Given the description of an element on the screen output the (x, y) to click on. 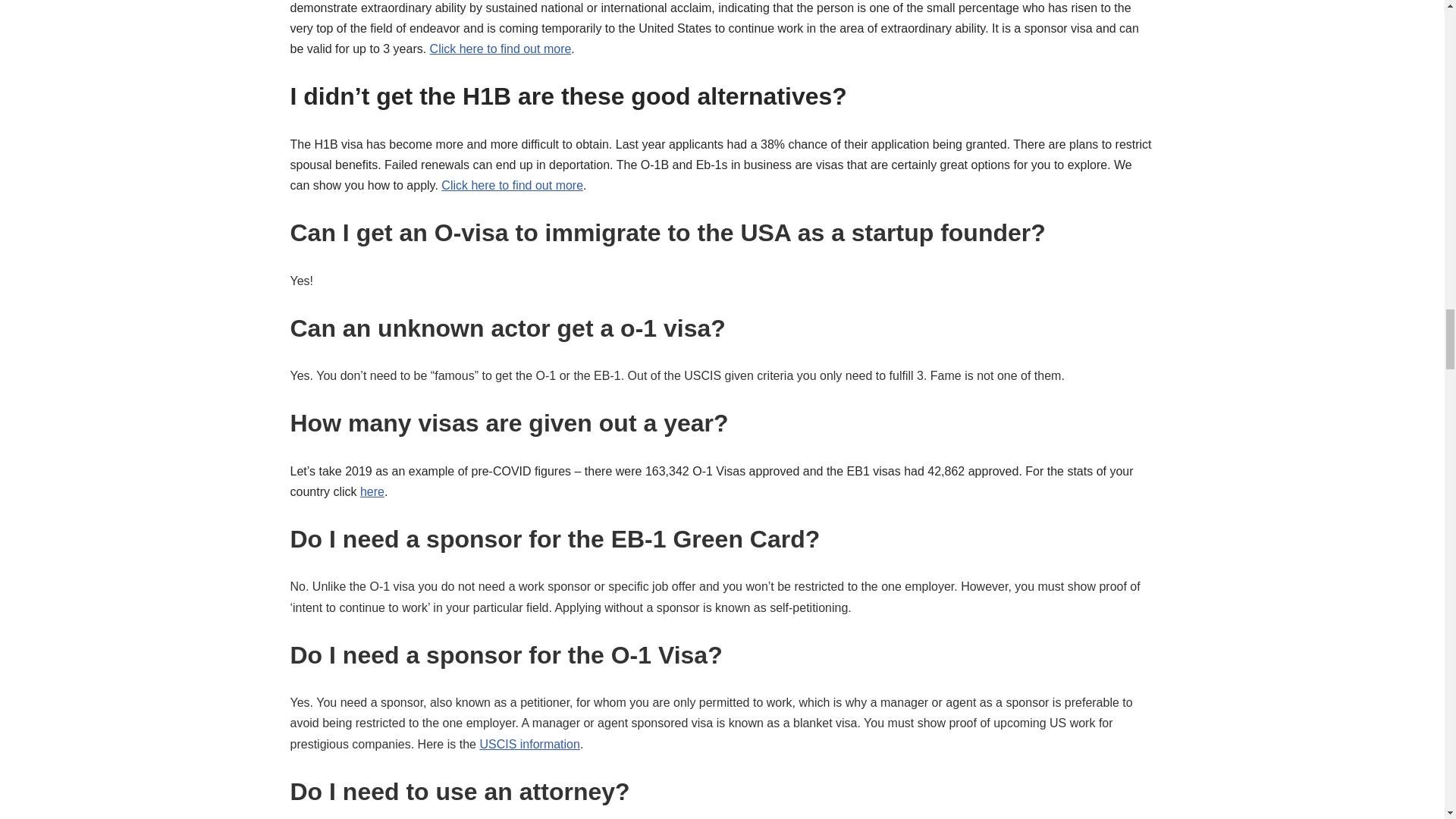
USCIS information (529, 744)
here (371, 491)
Click here to find out more (512, 185)
Click here to find out more (500, 48)
